Given the description of an element on the screen output the (x, y) to click on. 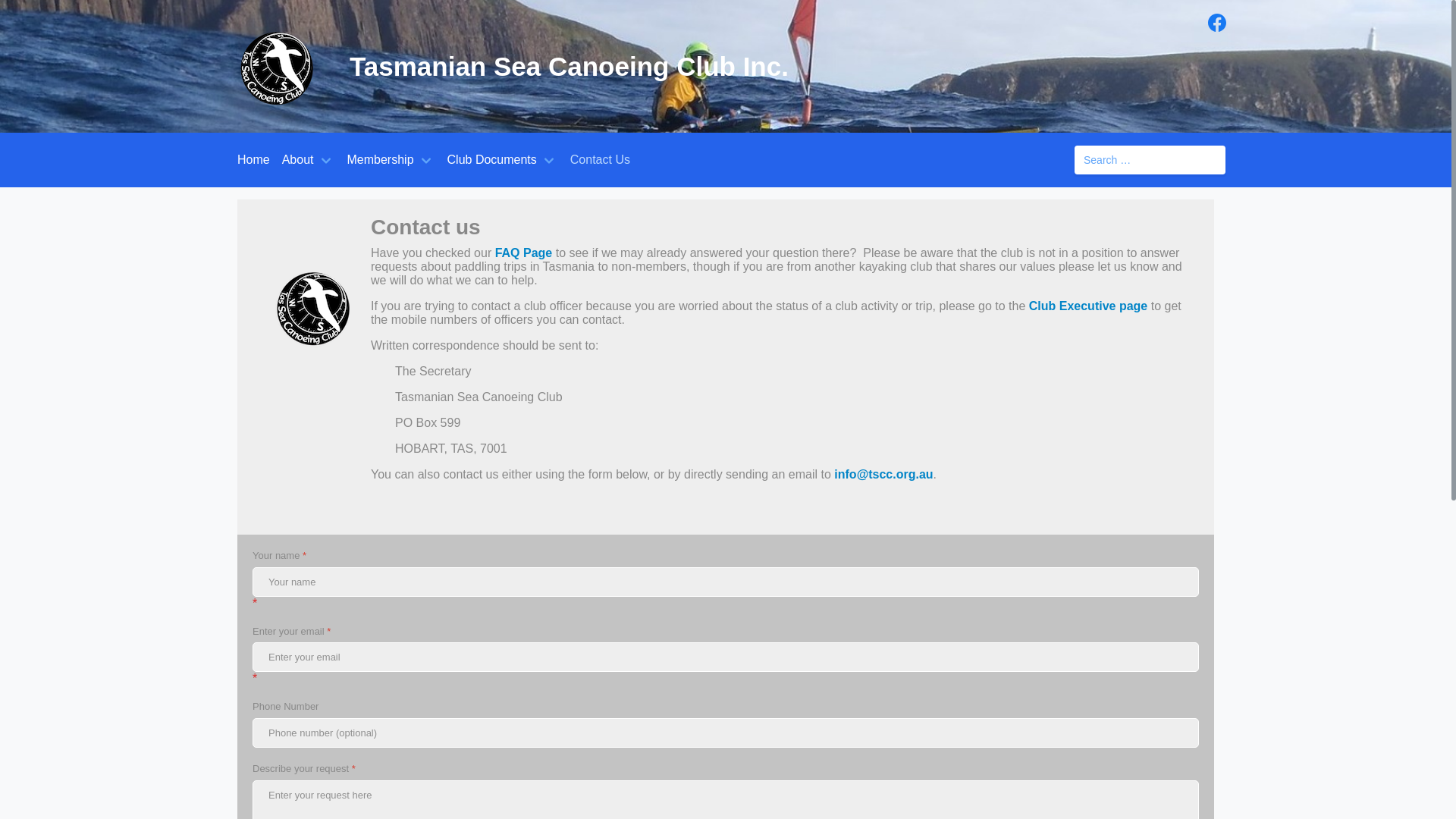
Contact Us Element type: text (600, 159)
FAQ Page Element type: text (523, 252)
Club Executive page Element type: text (1088, 305)
info@tscc.org.au Element type: text (883, 473)
Membership Element type: text (380, 159)
Club Documents Element type: text (491, 159)
Home Element type: text (253, 159)
About Element type: text (297, 159)
